Given the description of an element on the screen output the (x, y) to click on. 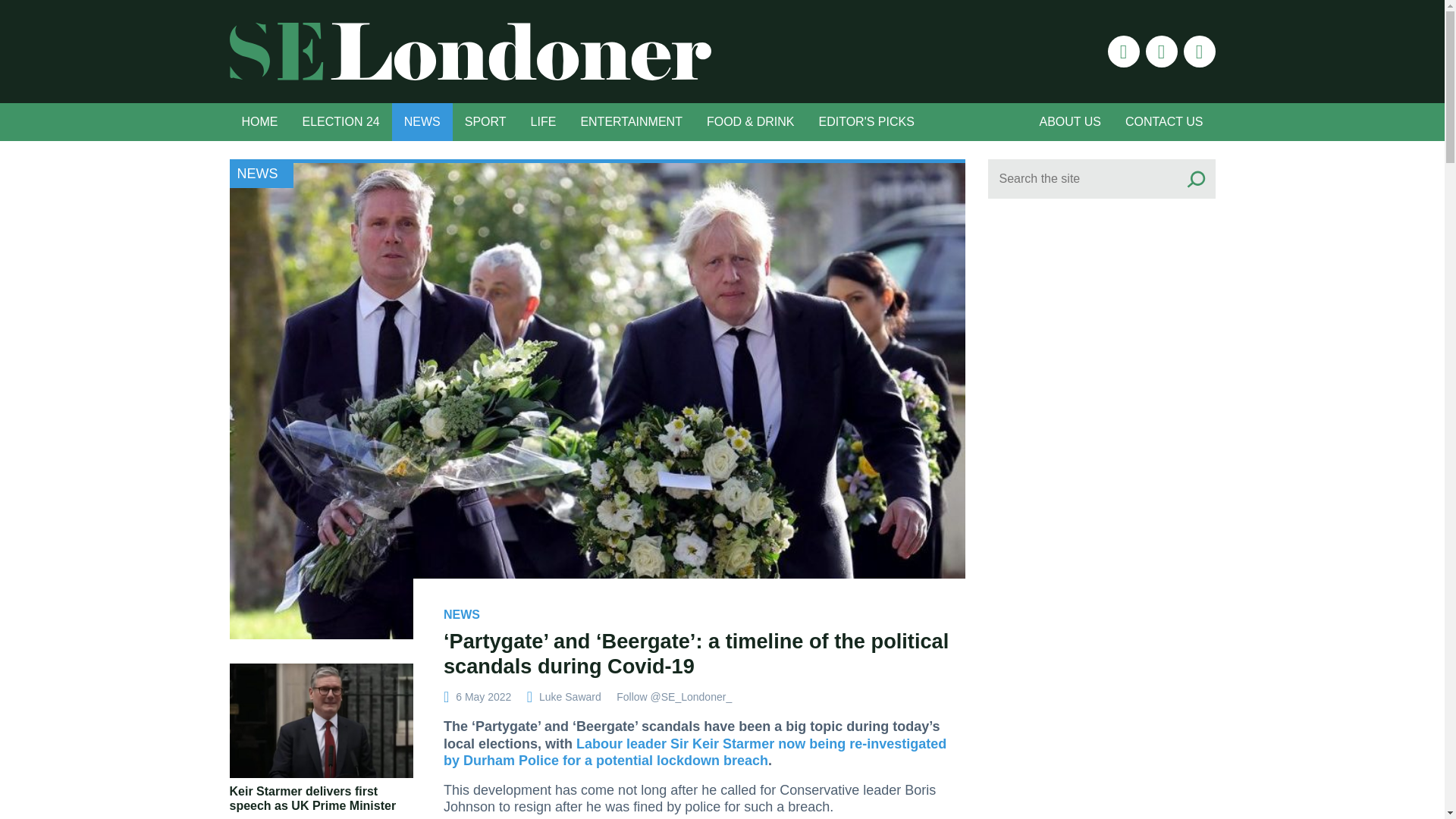
Contact us (1164, 121)
SPORT (485, 121)
Sport (485, 121)
Election 24 (340, 121)
About us (1069, 121)
Life (543, 121)
Keir Starmer delivers first speech as UK Prime Minister (312, 798)
NEWS (421, 121)
Entertainment (630, 121)
CONTACT US (1164, 121)
